Given the description of an element on the screen output the (x, y) to click on. 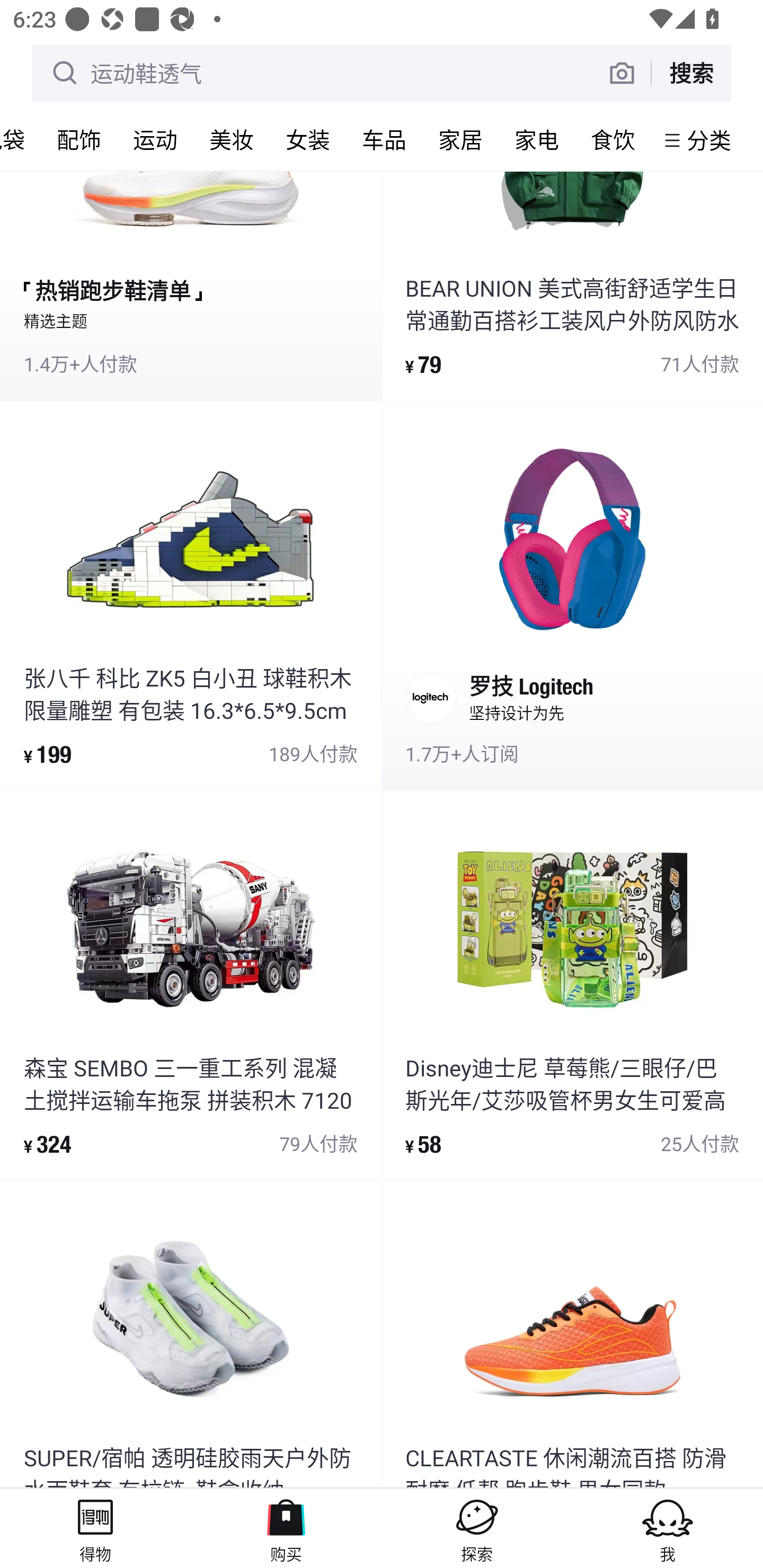
搜索 (690, 72)
配饰 (78, 139)
运动 (154, 139)
美妆 (231, 139)
女装 (307, 139)
车品 (383, 139)
家居 (459, 139)
家电 (536, 139)
食饮 (612, 139)
分类 (708, 139)
热销跑步鞋清单 精选主题 1.4万+人付款 (190, 284)
罗技 Logitech 坚持设计为先 1.7万+人订阅 (572, 595)
product_item SUPER/宿帕 透明硅胶雨天户外防
水雨鞋套 有拉链  鞋盒收纳 (190, 1334)
product_item CLEARTASTE 休闲潮流百搭 防滑
耐磨 低帮 跑步鞋 男女同款 (572, 1334)
得物 (95, 1528)
购买 (285, 1528)
探索 (476, 1528)
我 (667, 1528)
